Given the description of an element on the screen output the (x, y) to click on. 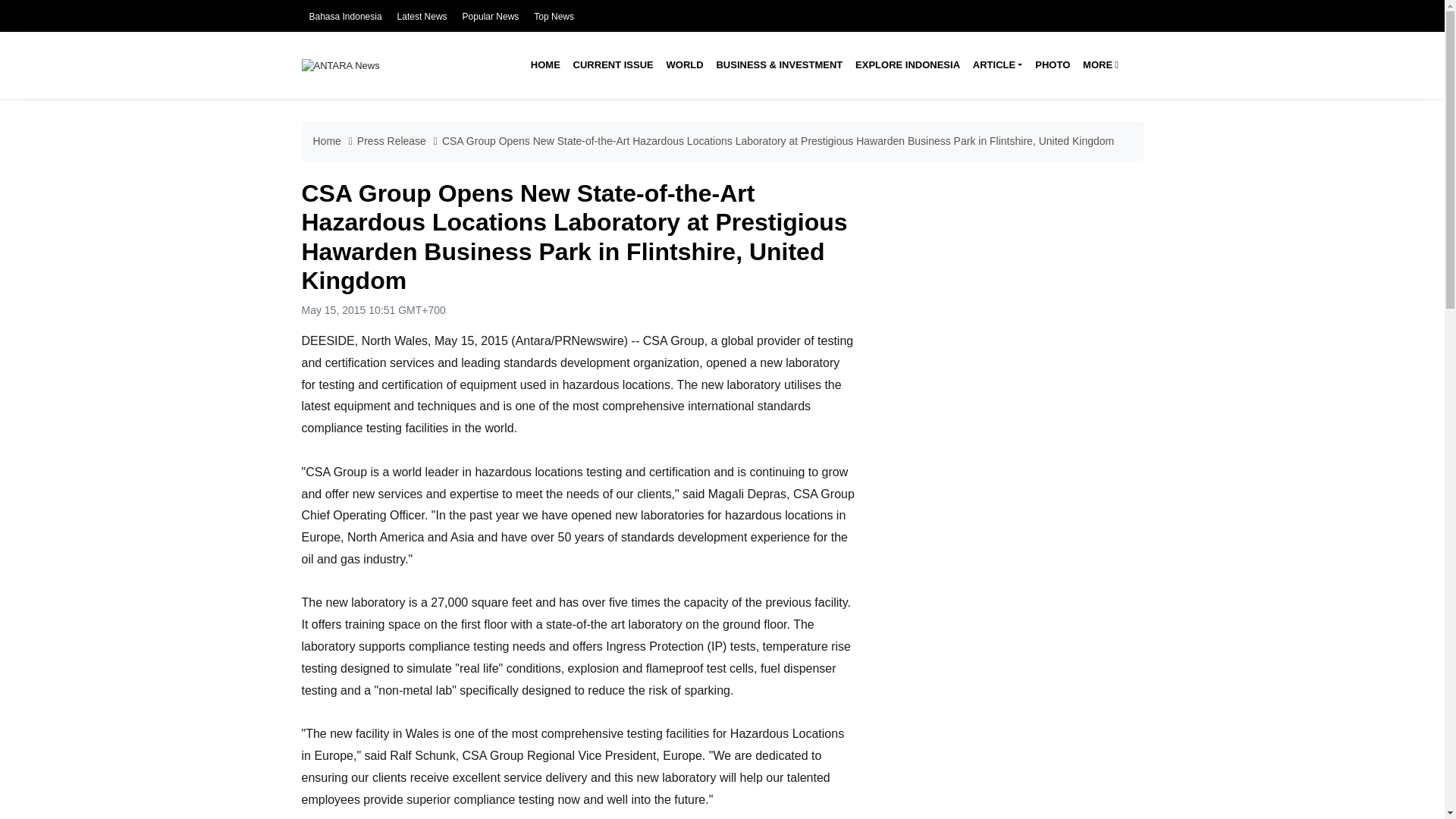
EXPLORE INDONESIA (907, 64)
ANTARA News (340, 64)
ARTICLE (996, 64)
Bahasa Indonesia (344, 16)
Popular News (491, 16)
Explore Indonesia (907, 64)
CURRENT ISSUE (612, 64)
Bahasa Indonesia (344, 16)
Latest News (421, 16)
Article (996, 64)
Latest News (421, 16)
Popular News (491, 16)
Top News (553, 16)
Current Issue (612, 64)
Top News (553, 16)
